Given the description of an element on the screen output the (x, y) to click on. 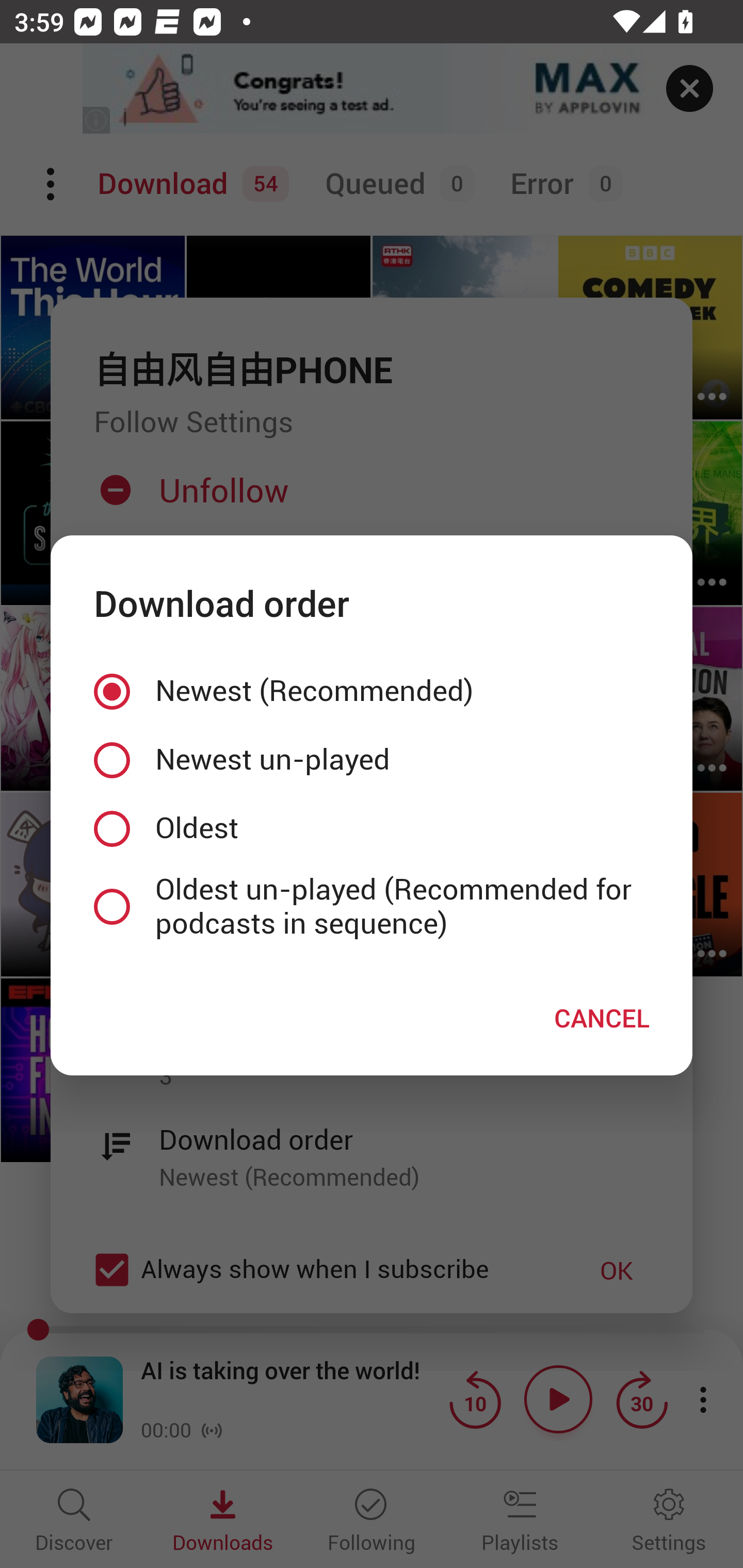
Newest (Recommended) (371, 692)
Newest un-played (371, 759)
Oldest (371, 828)
CANCEL (600, 1017)
